Given the description of an element on the screen output the (x, y) to click on. 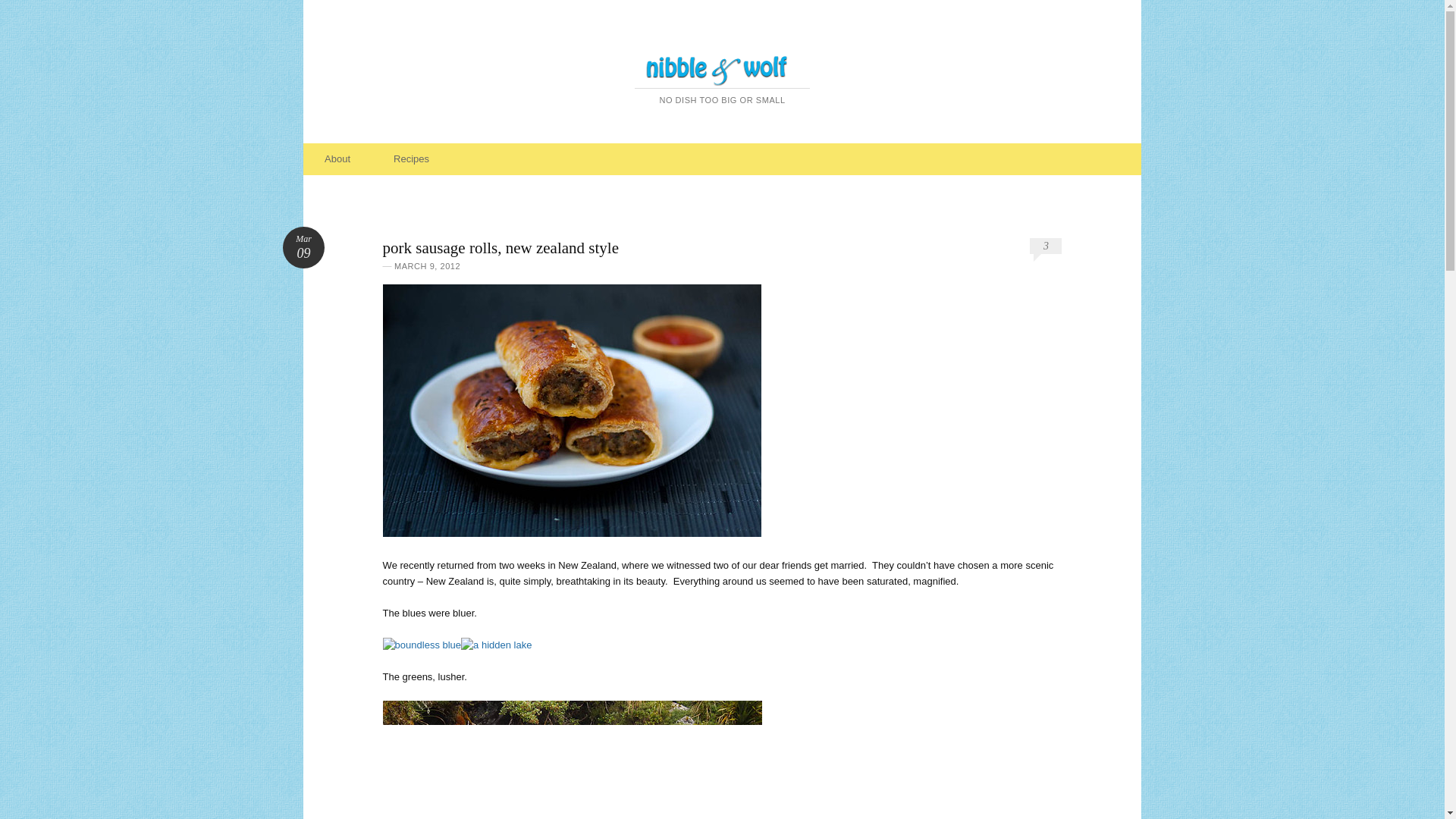
nibble and wolf (722, 62)
nibble and wolf (722, 62)
Skip to content (356, 159)
Permalink to pork sausage rolls, new zealand style (303, 247)
3 (1045, 245)
Skip to content (303, 247)
Recipes (356, 159)
a hidden lake by liminaldreams, on Flickr (410, 159)
About (496, 644)
